Given the description of an element on the screen output the (x, y) to click on. 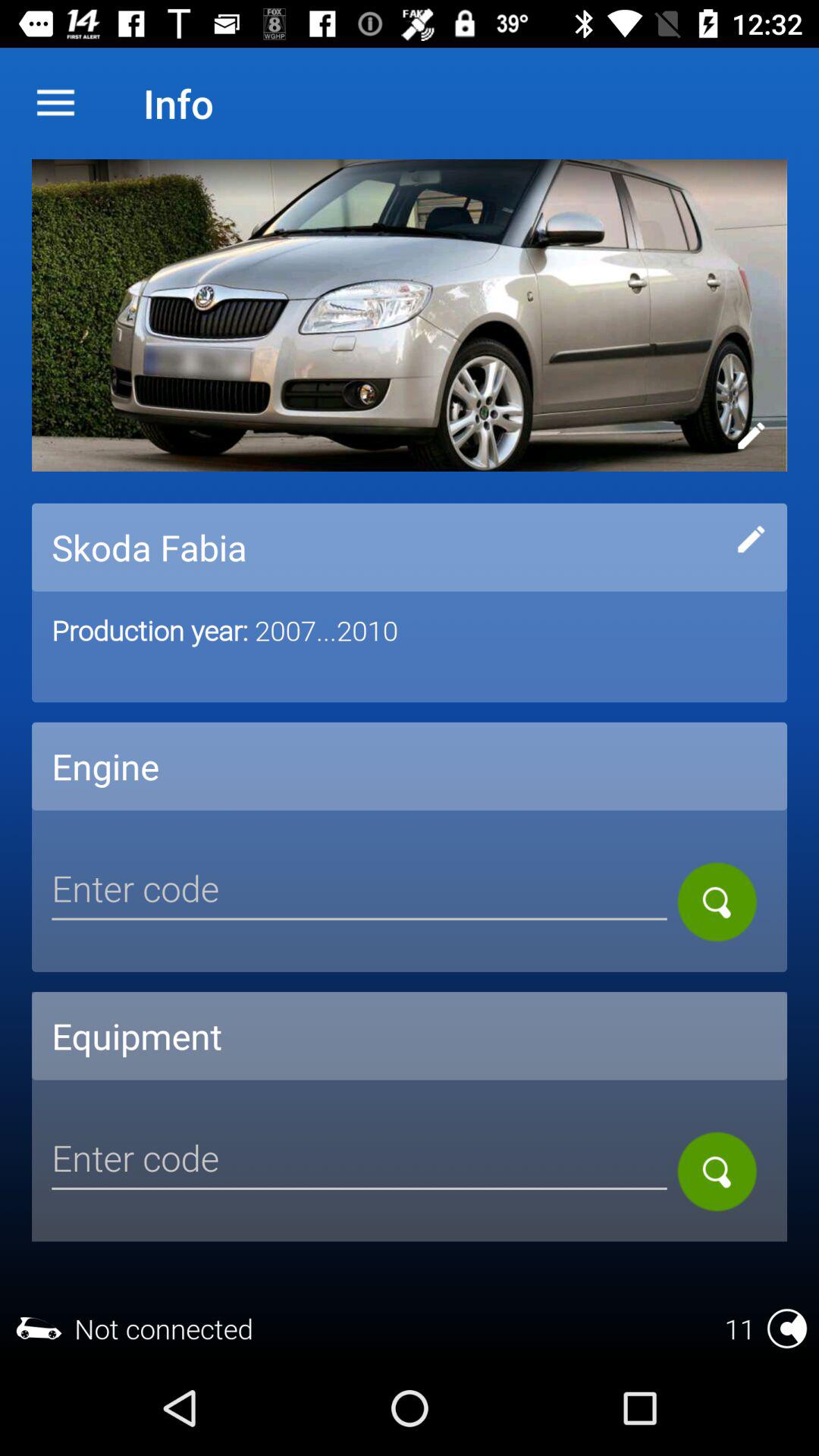
search in the option (717, 901)
